Given the description of an element on the screen output the (x, y) to click on. 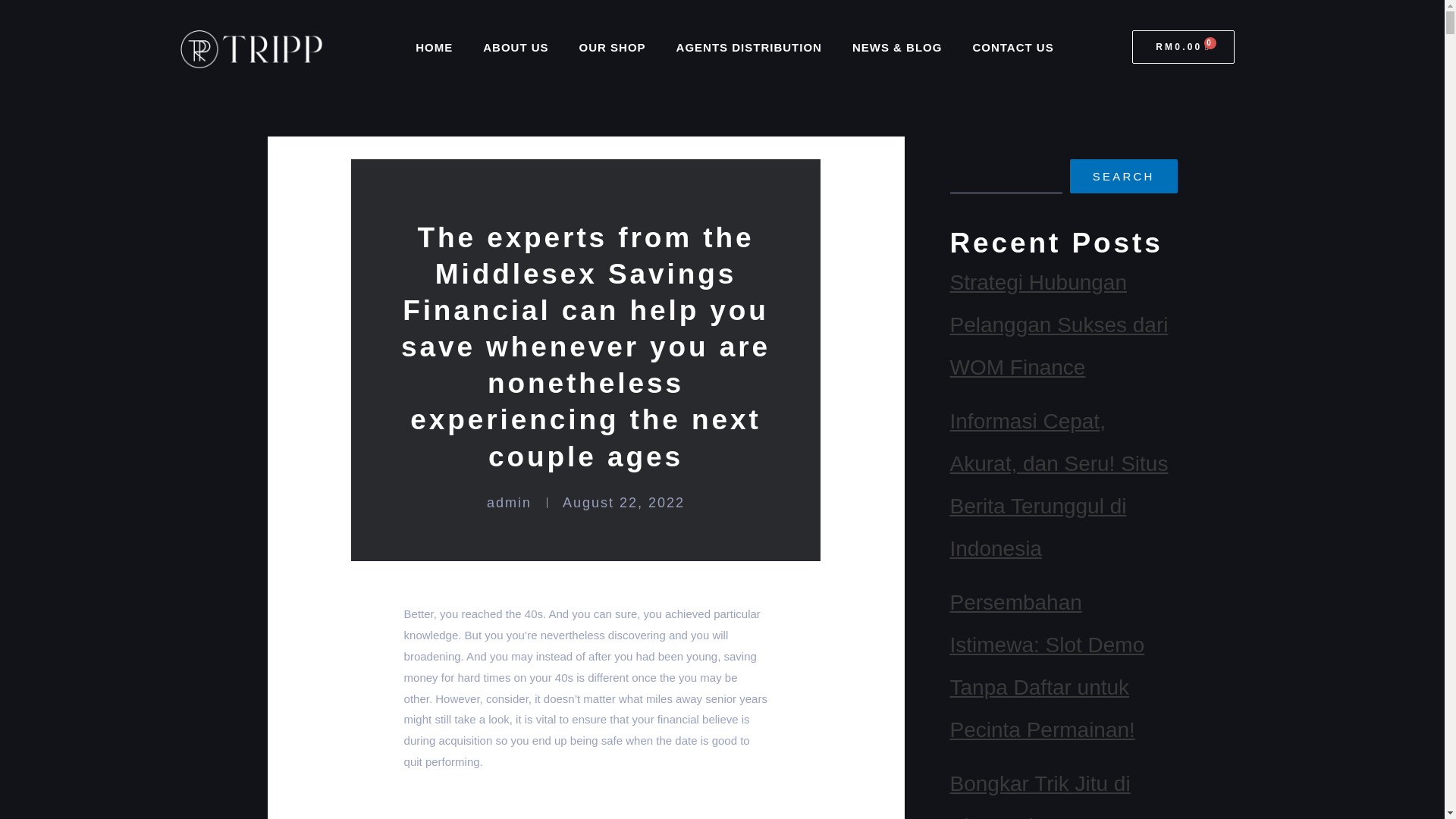
CONTACT US (1012, 47)
SEARCH (1123, 175)
HOME (433, 47)
AGENTS DISTRIBUTION (749, 47)
ABOUT US (515, 47)
admin (508, 502)
RM0.00 (1182, 46)
Strategi Hubungan Pelanggan Sukses dari WOM Finance (1058, 325)
August 22, 2022 (623, 502)
OUR SHOP (612, 47)
